Given the description of an element on the screen output the (x, y) to click on. 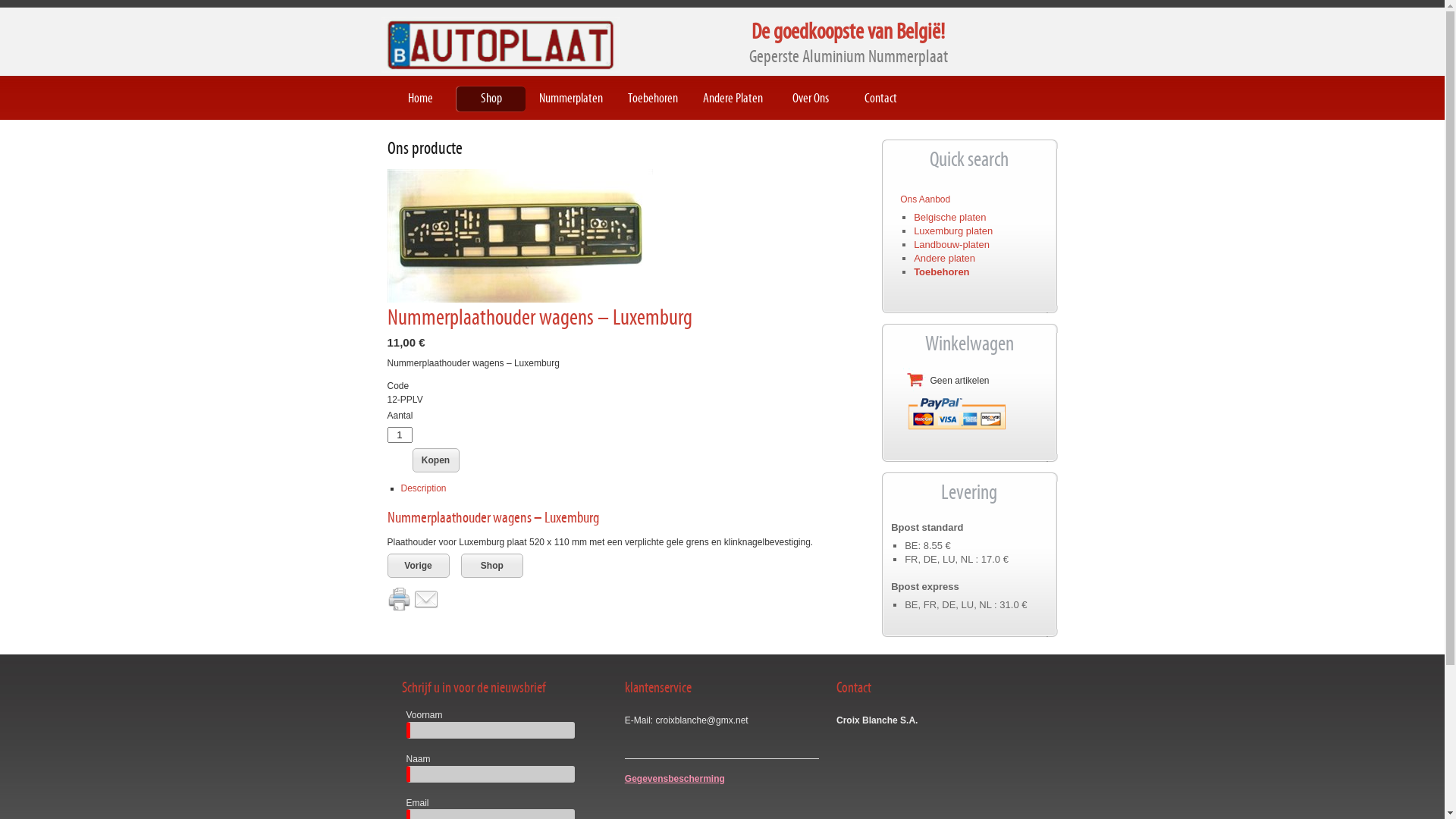
Description Element type: text (422, 487)
Over Ons Element type: text (815, 98)
Luxemburg platen Element type: text (952, 230)
Kopen Element type: text (435, 459)
Autoplaat Element type: hover (499, 43)
Shop Element type: text (492, 565)
Belgische platen Element type: text (949, 216)
Landbouw-platen Element type: text (951, 244)
Toebehoren Element type: text (941, 271)
Print this page Element type: hover (398, 598)
Gegevensbescherming Element type: text (674, 778)
Andere Platen Element type: text (738, 98)
Andere platen Element type: text (944, 257)
Ons Aanbod Element type: text (925, 199)
Home Element type: text (426, 98)
Nummerplaten Element type: text (576, 98)
Shop Element type: text (497, 98)
Vorige Element type: text (417, 565)
Contact Element type: text (887, 98)
Toebehoren Element type: text (658, 98)
Email this page Element type: hover (426, 598)
